Given the description of an element on the screen output the (x, y) to click on. 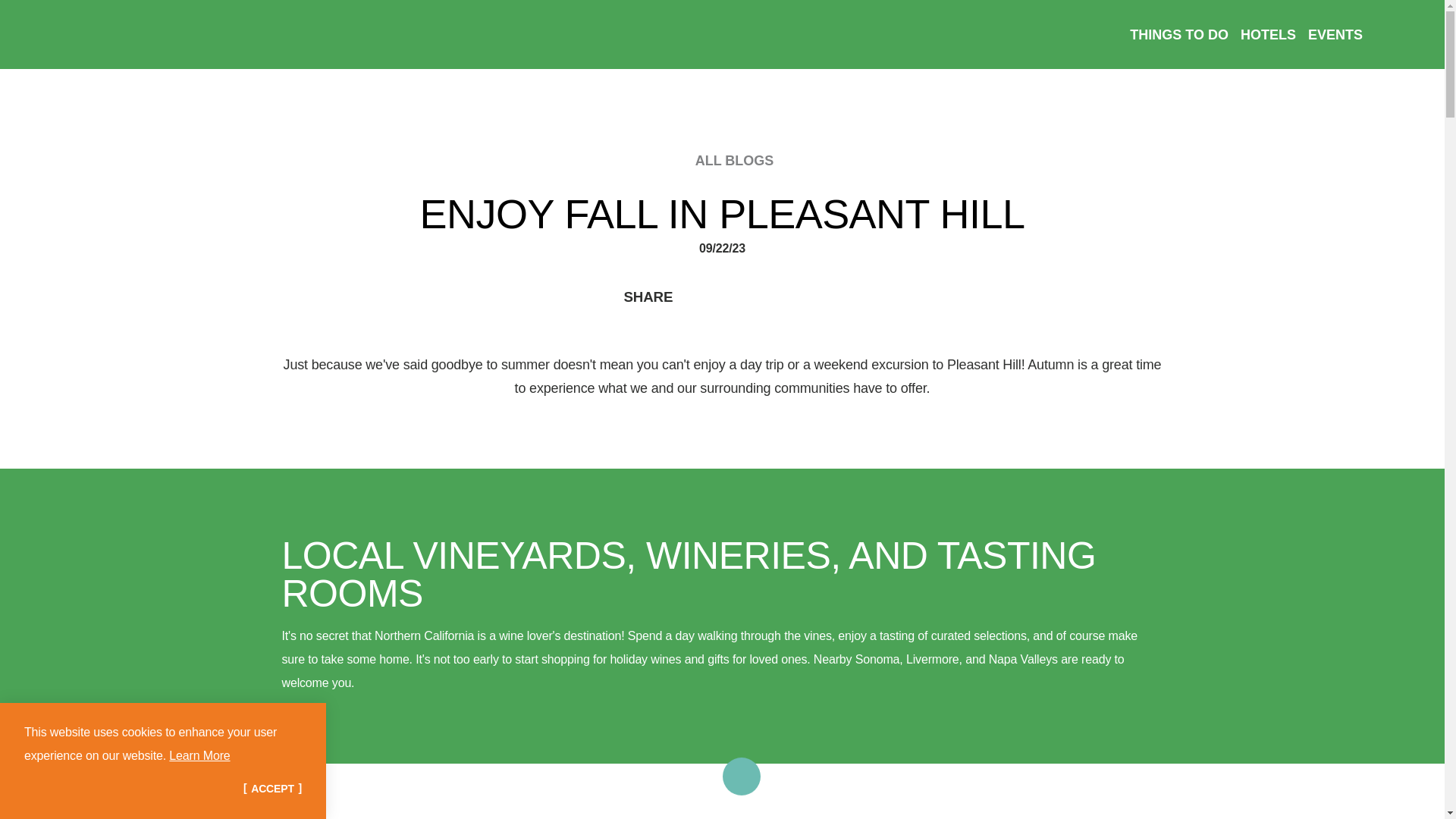
THINGS TO DO (1178, 33)
Share on Twitter (753, 296)
ALL BLOGS (719, 160)
Skip to content (17, 15)
HOTELS (1267, 33)
Email this page (804, 296)
EVENTS (1334, 33)
